Given the description of an element on the screen output the (x, y) to click on. 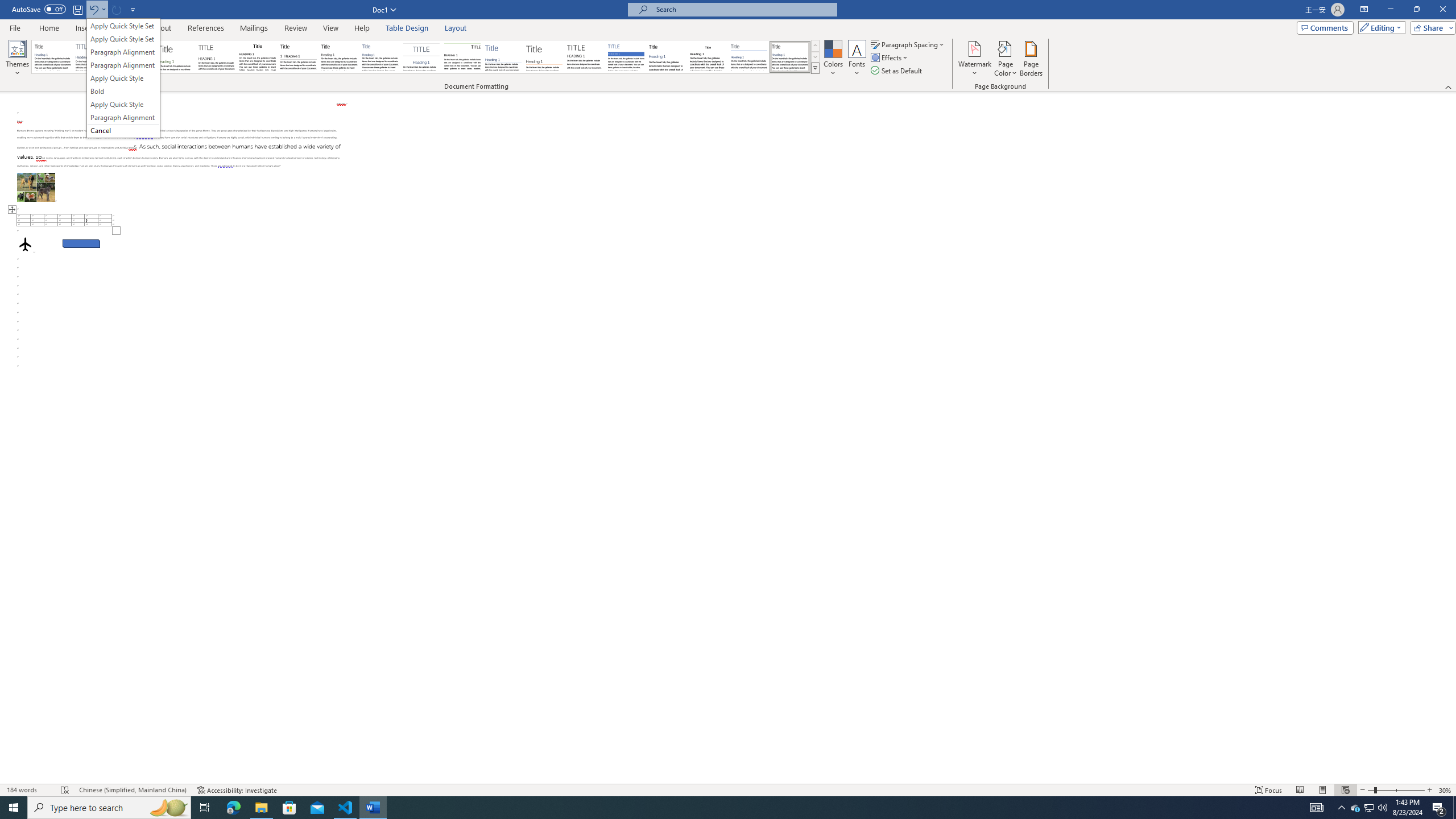
Document (52, 56)
